Given the description of an element on the screen output the (x, y) to click on. 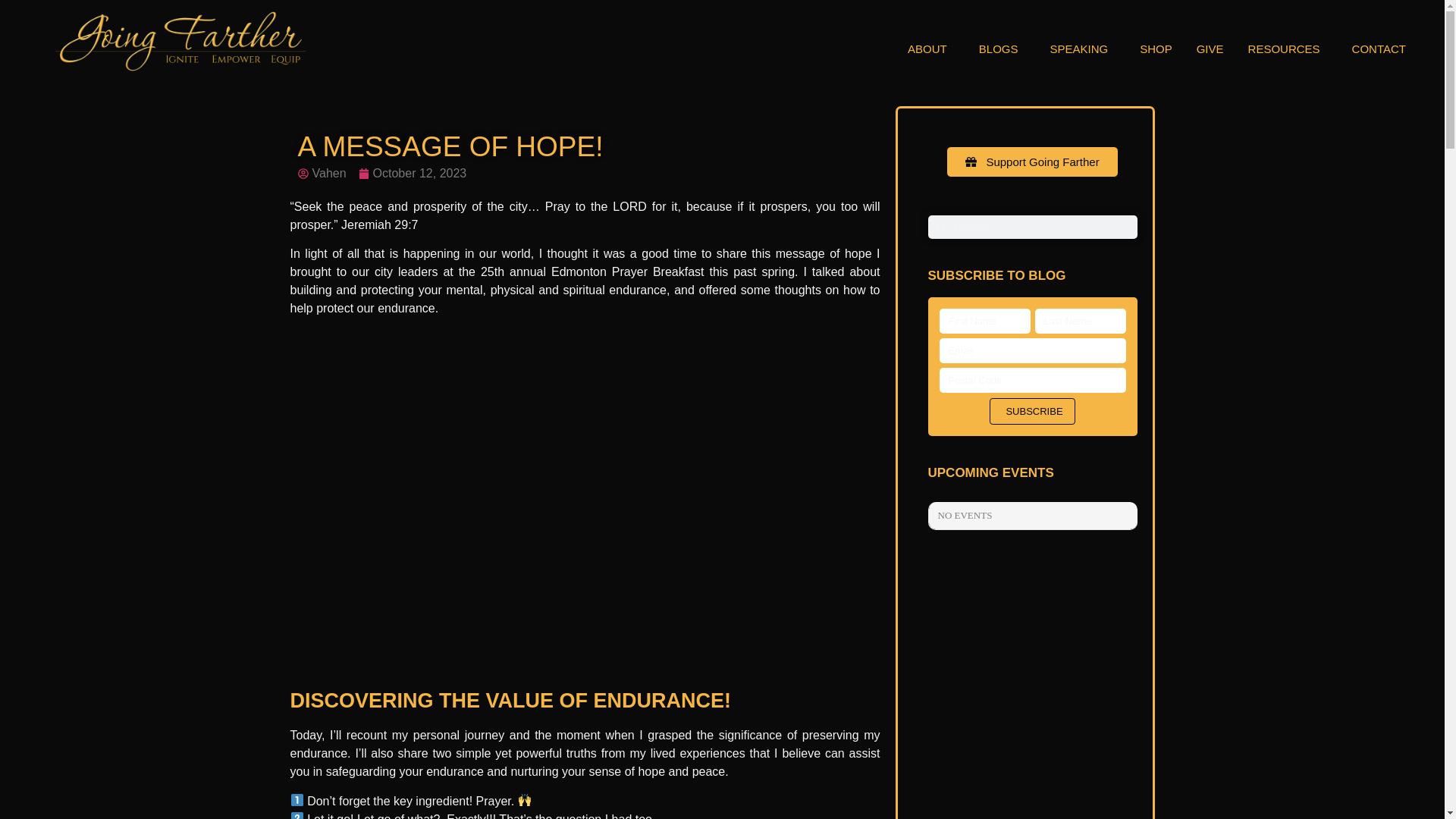
GIVE (1209, 49)
SPEAKING (1082, 49)
RESOURCES (1288, 49)
ABOUT (930, 49)
SHOP (1155, 49)
CONTACT (1378, 49)
BLOGS (1002, 49)
